Given the description of an element on the screen output the (x, y) to click on. 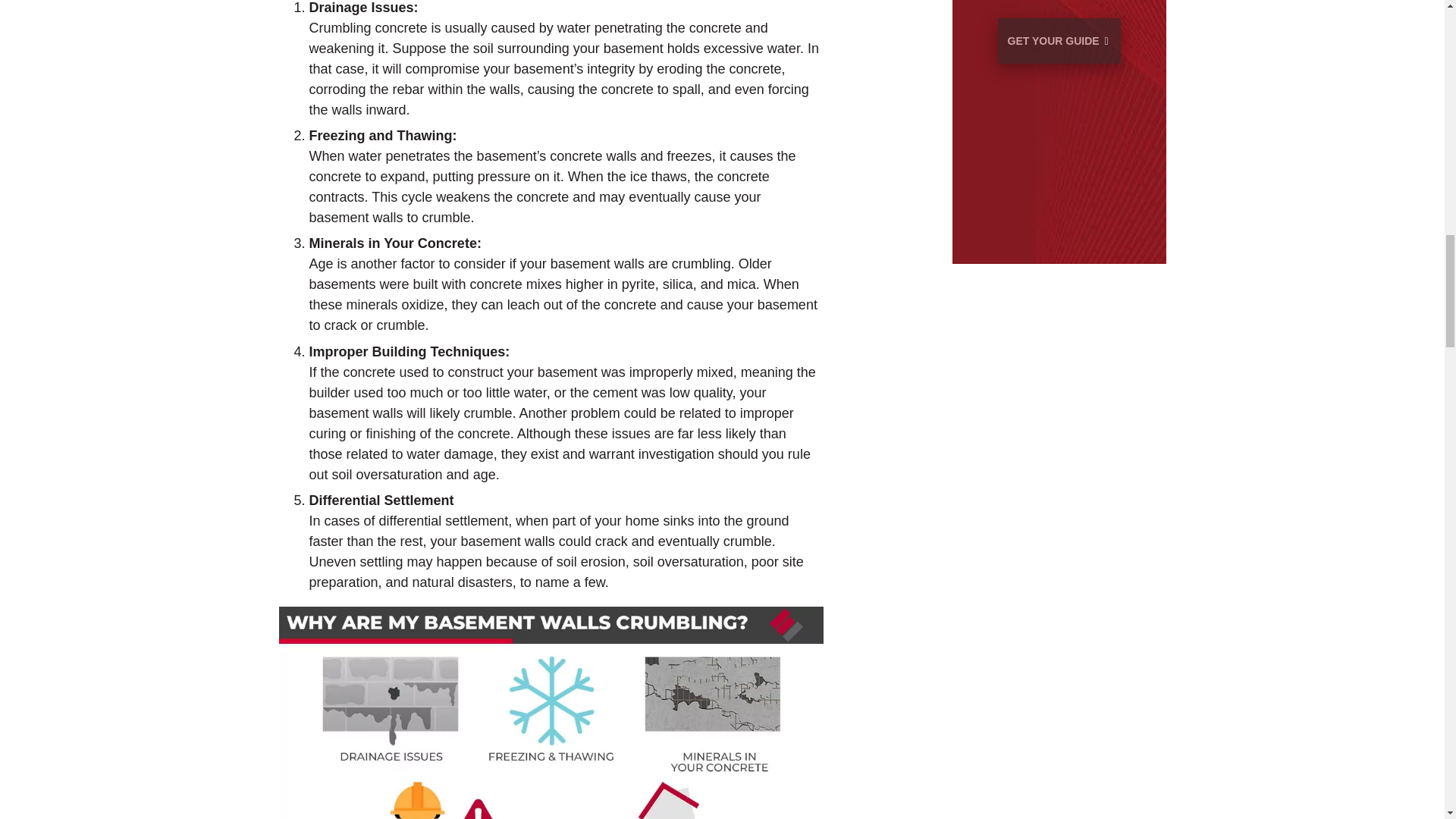
Get Your Guide (1059, 40)
